Given the description of an element on the screen output the (x, y) to click on. 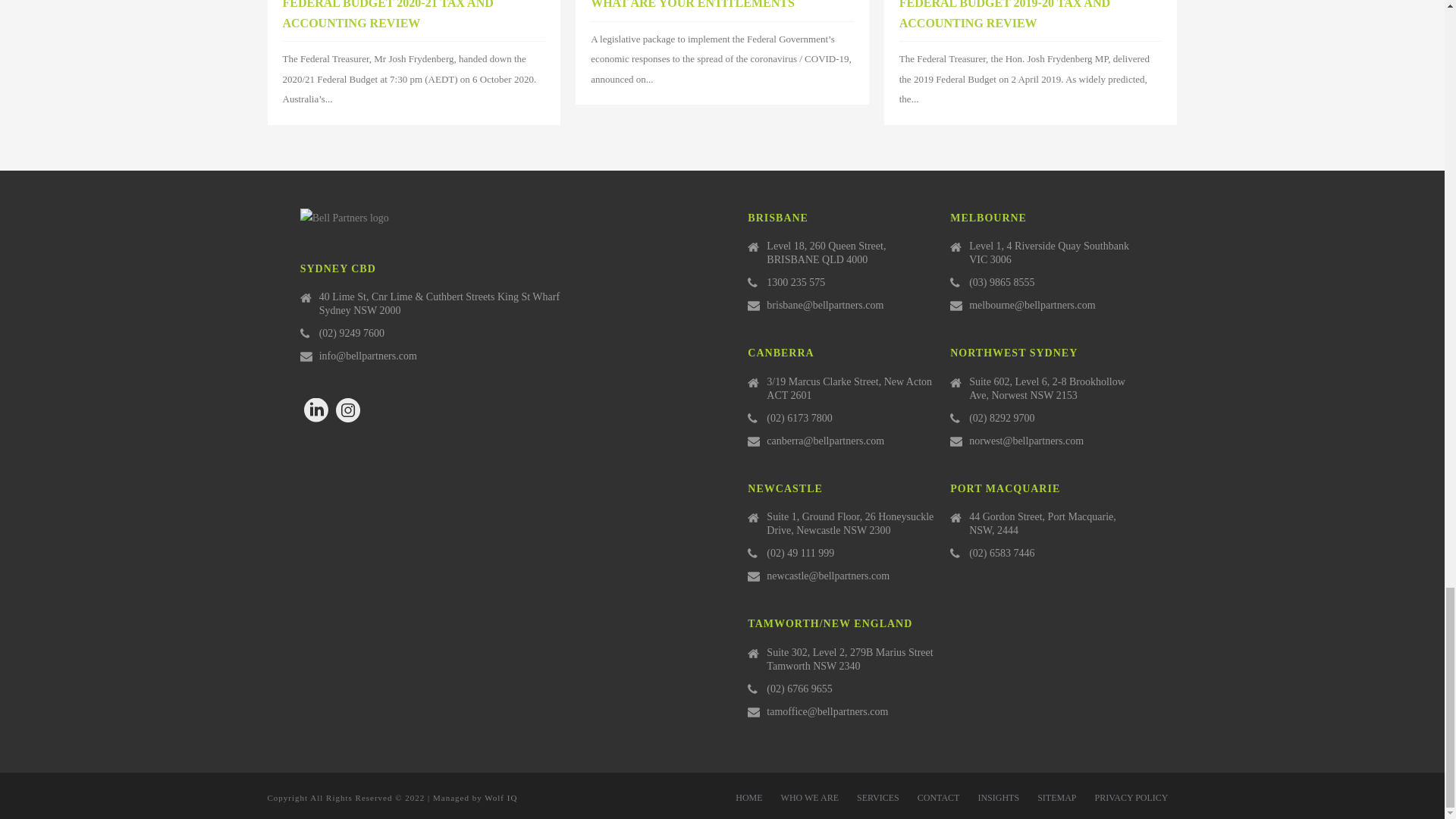
Graphic and website design Sydney (500, 797)
Follow Us on linkedin (316, 411)
Follow Us on instagram (347, 411)
